Given the description of an element on the screen output the (x, y) to click on. 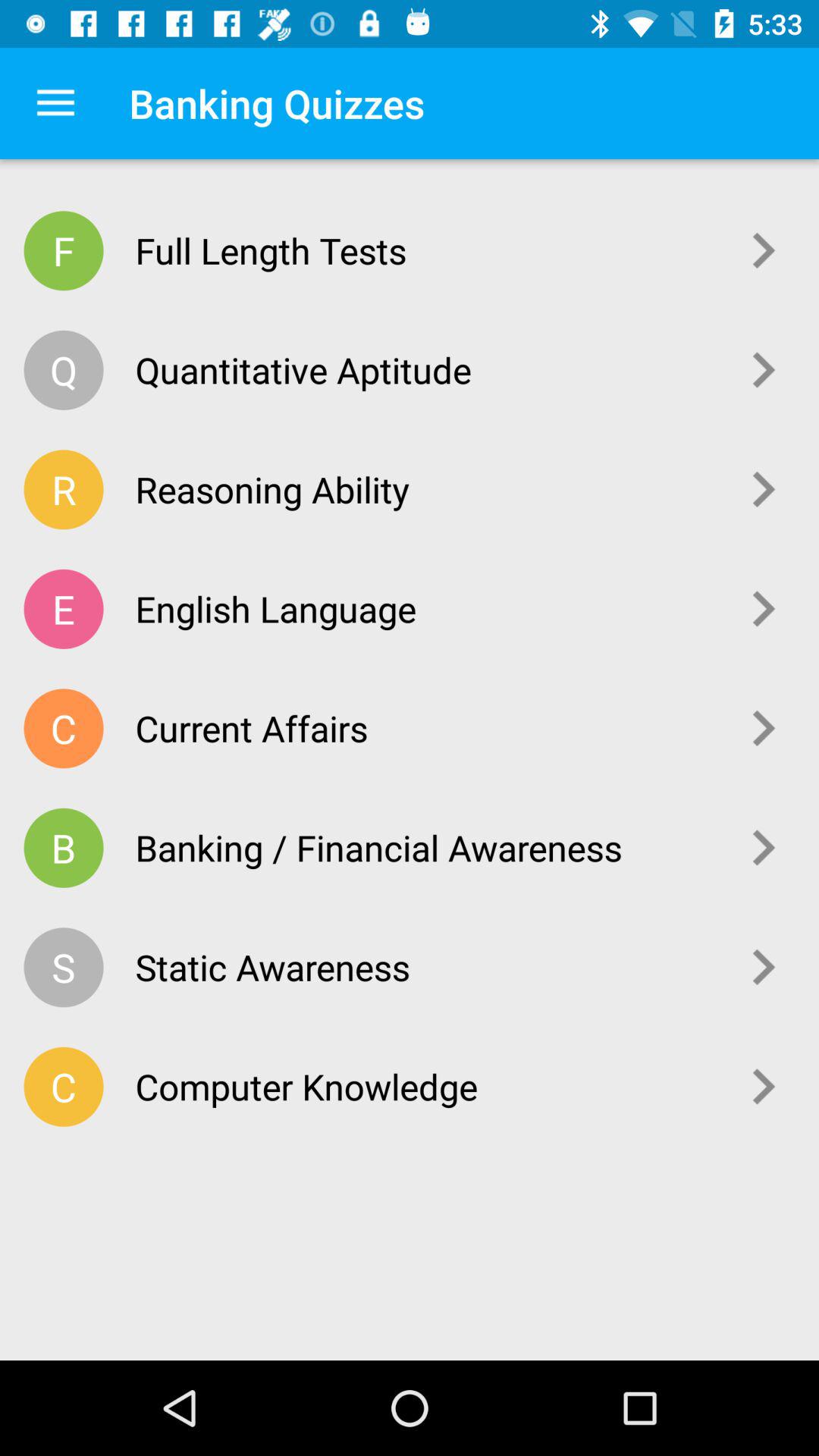
tap the app to the left of the  banking quizzes  app (55, 103)
